Given the description of an element on the screen output the (x, y) to click on. 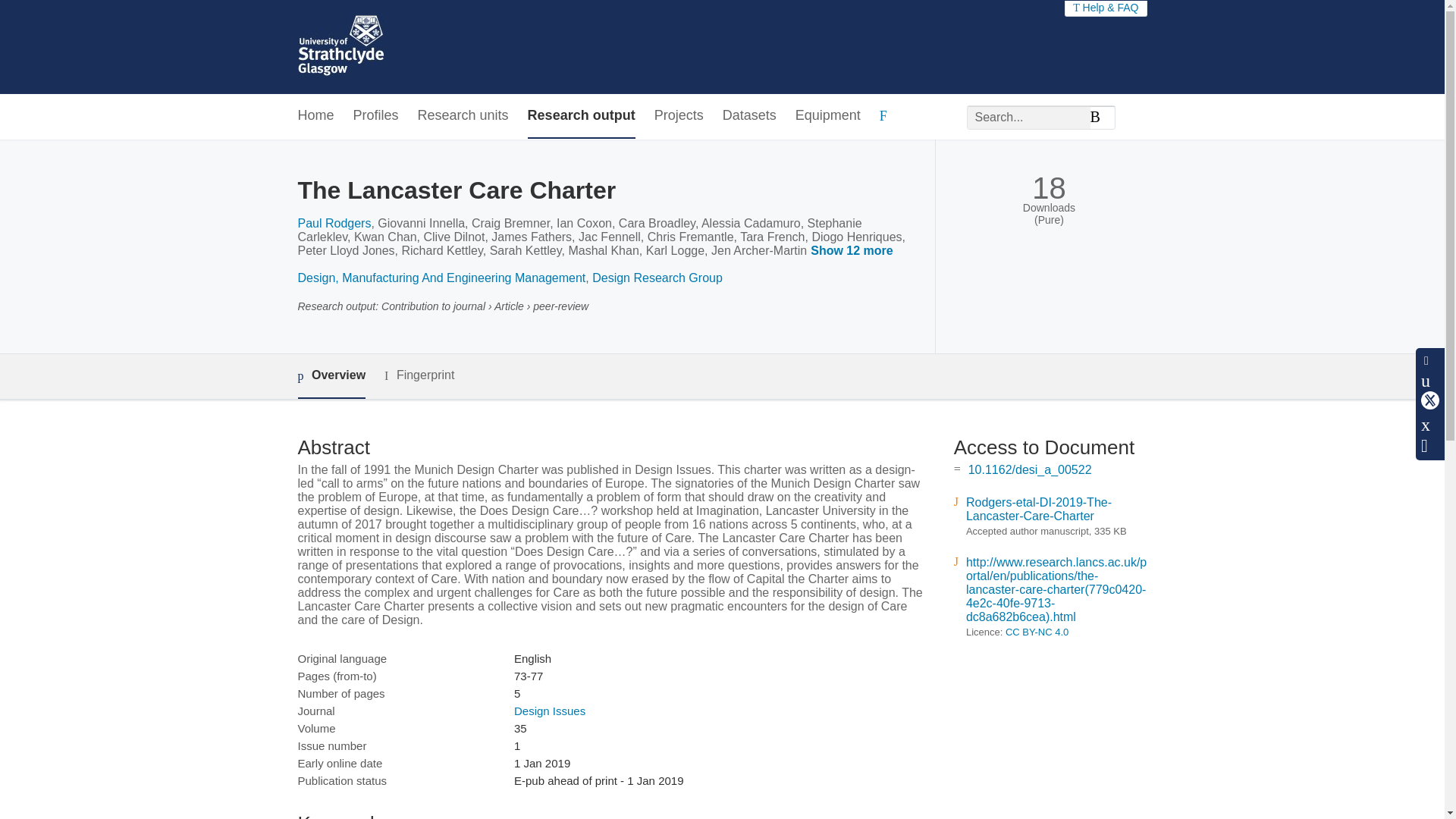
University of Strathclyde Home (339, 46)
Design Research Group (657, 277)
Datasets (749, 116)
Overview (331, 375)
Research output (580, 116)
Paul Rodgers (334, 223)
CC BY-NC 4.0 (1037, 632)
Design Issues (549, 710)
Rodgers-etal-DI-2019-The-Lancaster-Care-Charter (1039, 509)
